Given the description of an element on the screen output the (x, y) to click on. 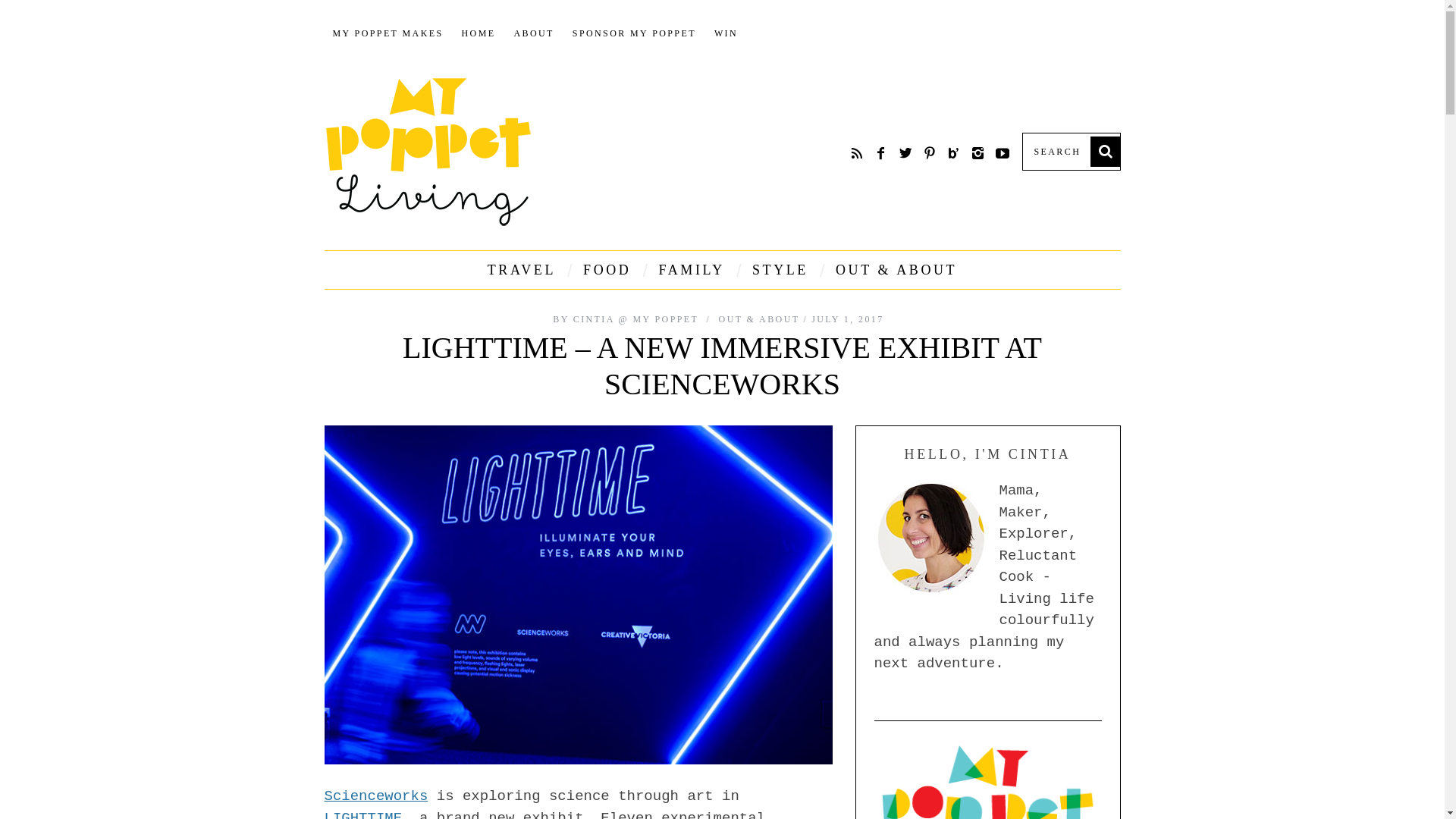
Search (1071, 151)
